Given the description of an element on the screen output the (x, y) to click on. 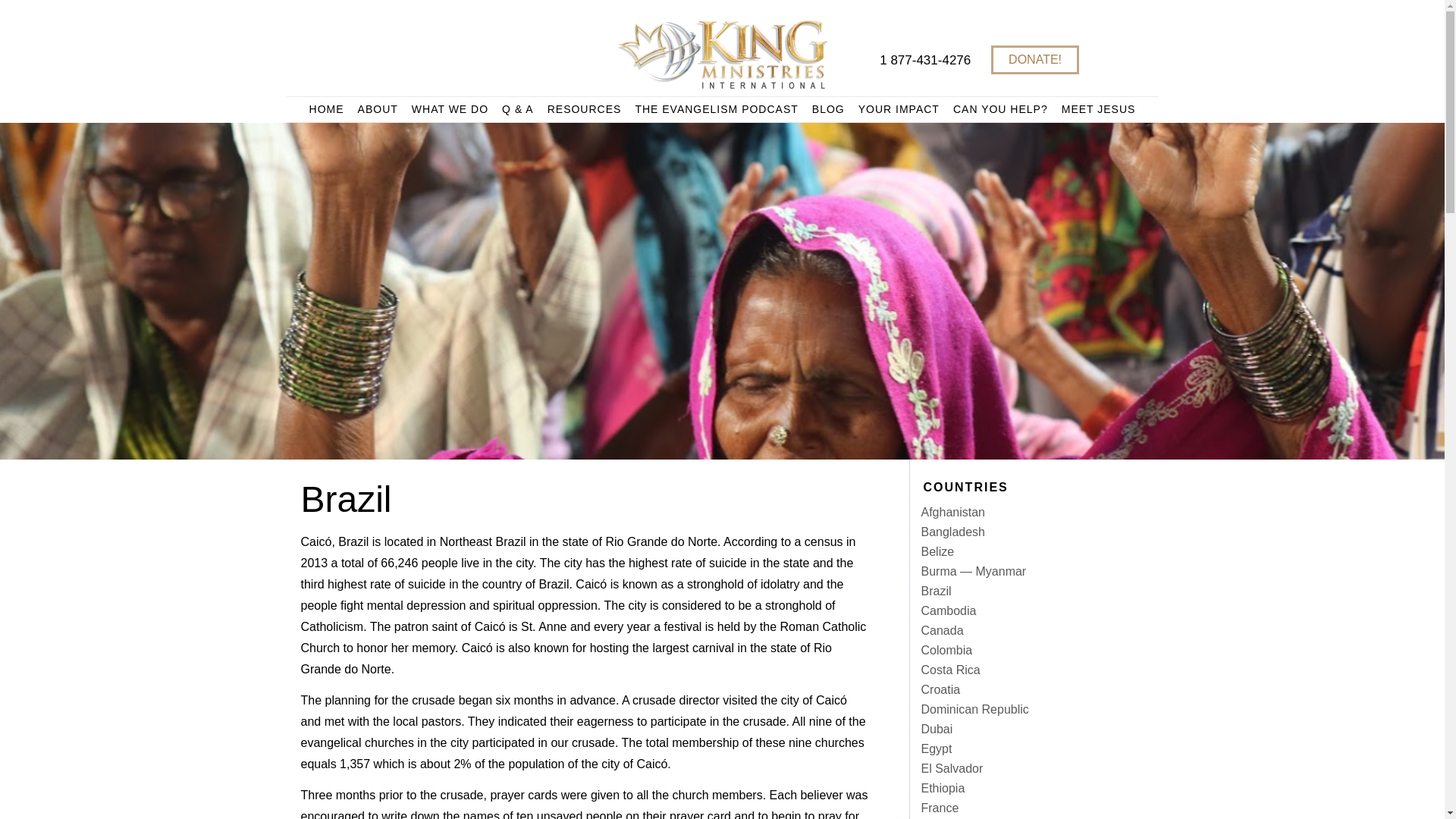
1 877-431-4276 (925, 60)
HOME (326, 109)
ABOUT (377, 109)
kingministries (721, 54)
Home (326, 109)
WHAT WE DO (449, 109)
DONATE! (1034, 59)
What We Do (449, 109)
About (377, 109)
